Given the description of an element on the screen output the (x, y) to click on. 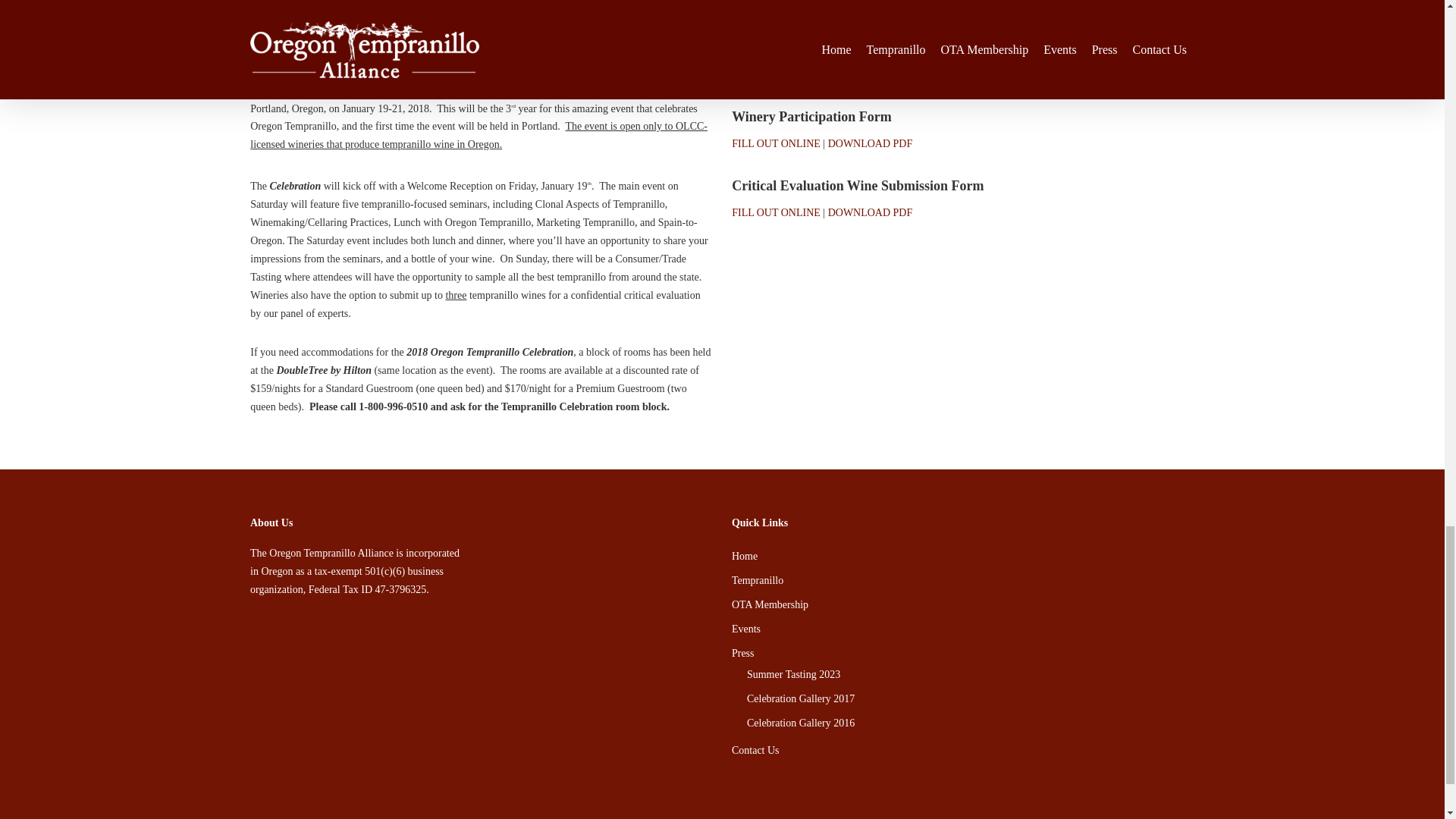
Press (962, 653)
Tempranillo (962, 580)
FILL OUT ONLINE (776, 143)
Contact Us (962, 751)
FILL OUT ONLINE (776, 212)
DOWNLOAD PDF (870, 212)
Celebration Gallery 2016 (969, 723)
Home (962, 556)
Summer Tasting 2023 (969, 674)
Celebration Gallery 2017 (969, 699)
Events (962, 628)
OTA Membership (962, 605)
DOWNLOAD PDF (870, 143)
